Given the description of an element on the screen output the (x, y) to click on. 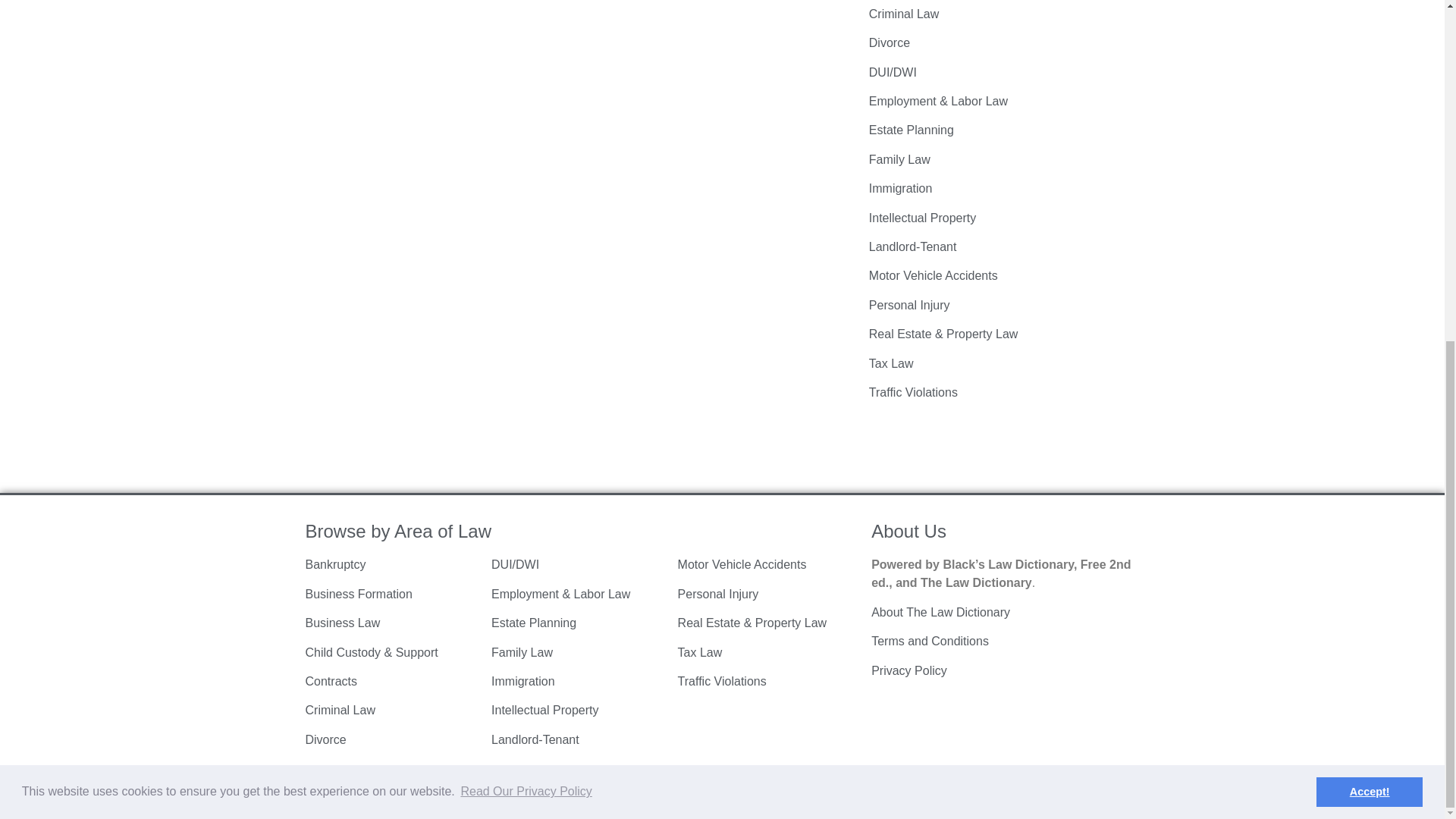
Read Our Privacy Policy (526, 212)
Accept! (1369, 213)
